Given the description of an element on the screen output the (x, y) to click on. 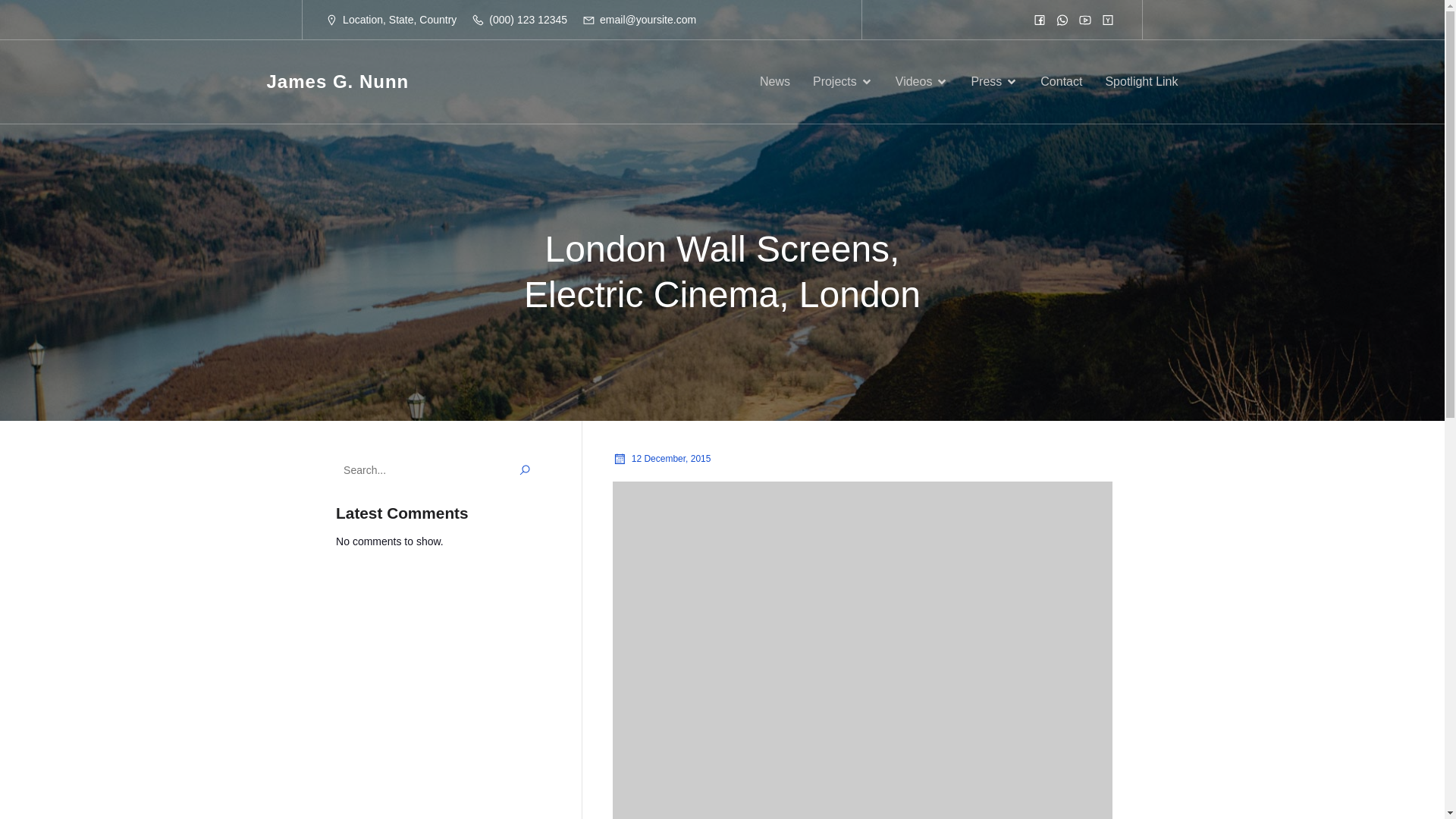
Press (994, 81)
James G. Nunn (337, 81)
Projects (842, 81)
Videos (922, 81)
News (775, 81)
